Given the description of an element on the screen output the (x, y) to click on. 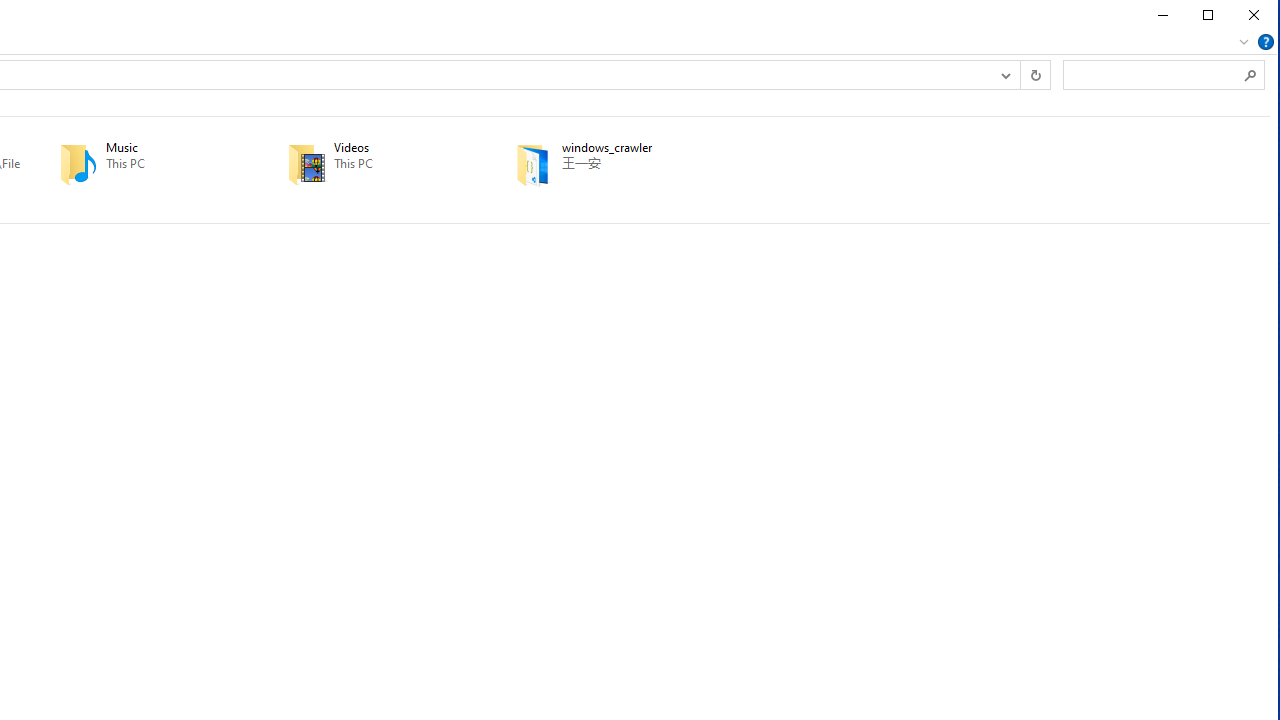
Minimize the Ribbon (1243, 41)
Name (634, 147)
Help (1265, 41)
Address band toolbar (1019, 74)
Minimize (1161, 15)
Path (634, 163)
Close (1254, 15)
Music (145, 164)
Videos (373, 164)
Class: UIImage (534, 163)
Previous Locations (1004, 74)
windows_crawler (600, 164)
Pinned (634, 179)
Search (1250, 74)
Refresh "Quick access" (F5) (1034, 74)
